Given the description of an element on the screen output the (x, y) to click on. 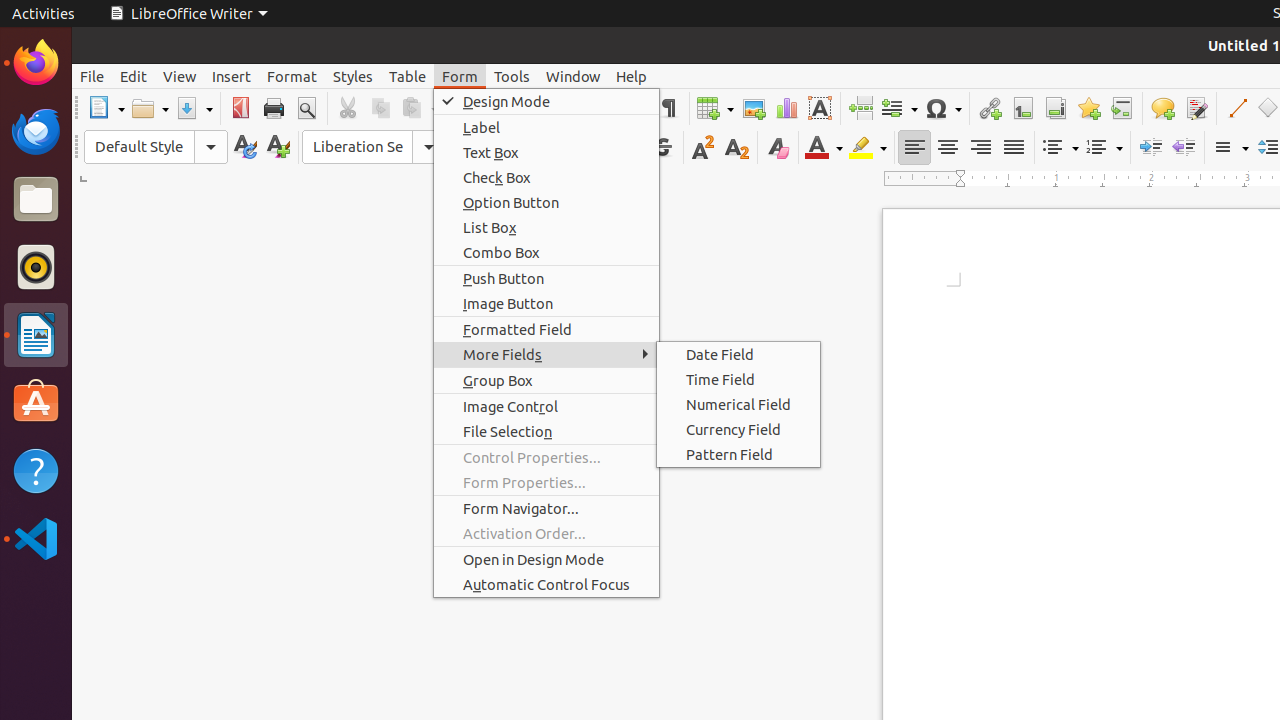
Tools Element type: menu (512, 76)
Help Element type: push-button (36, 470)
Comment Element type: push-button (1162, 108)
Insert Element type: menu (231, 76)
Cut Element type: push-button (347, 108)
